Given the description of an element on the screen output the (x, y) to click on. 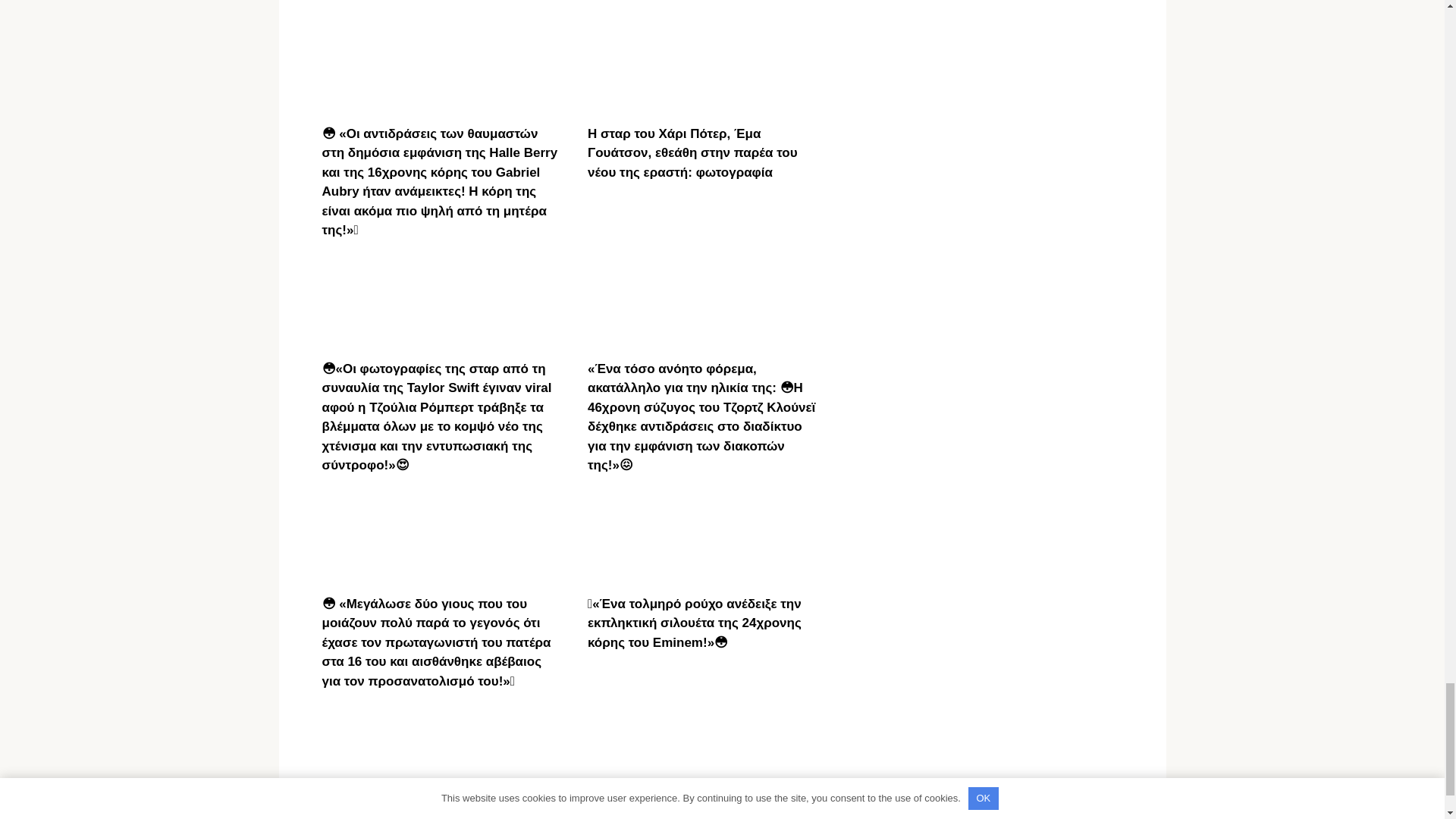
Contact form (491, 814)
Cookie Policy (418, 814)
About us (553, 814)
Privacy Policy (342, 814)
